Given the description of an element on the screen output the (x, y) to click on. 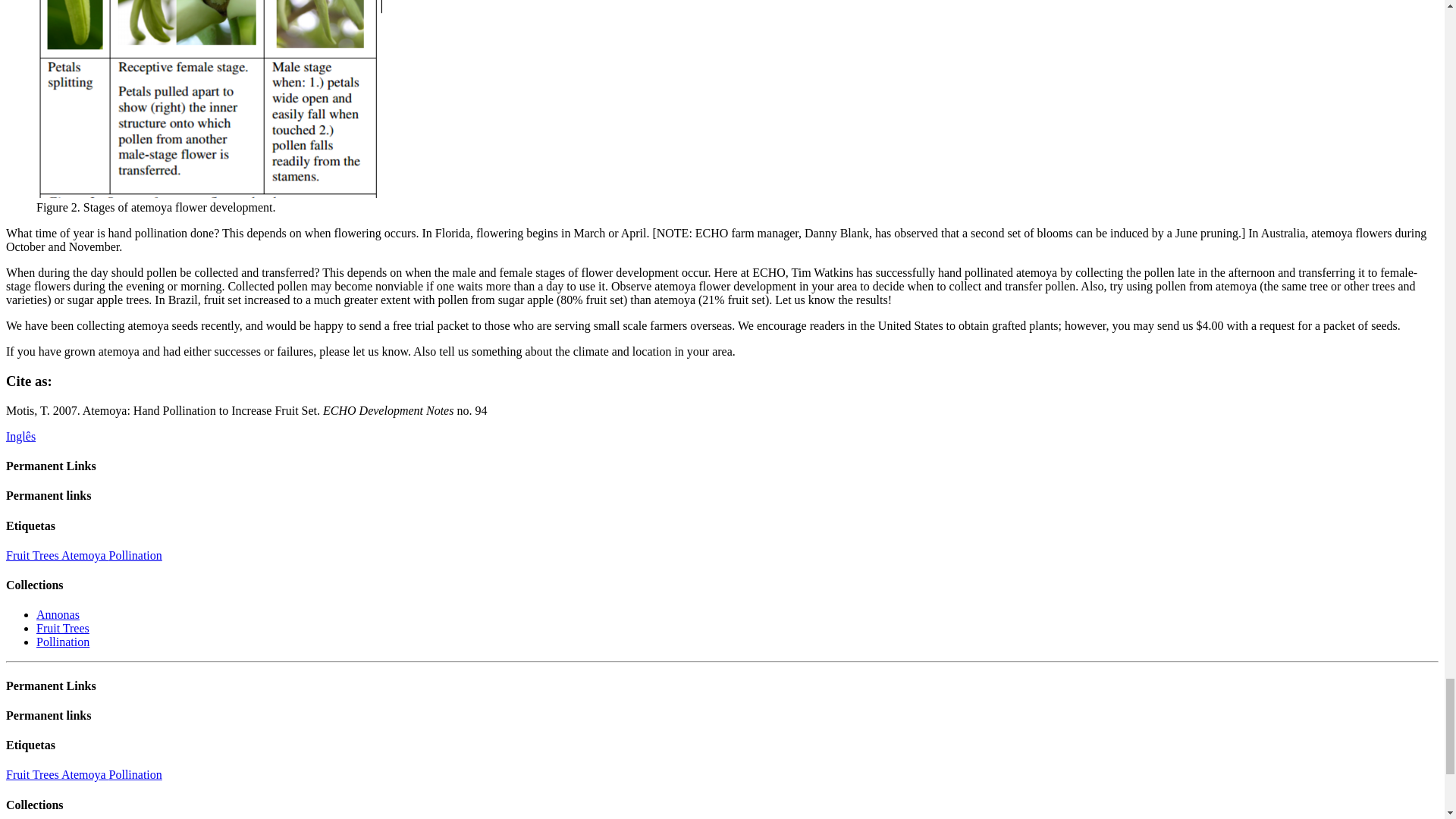
Atemoya (85, 774)
Fruit Trees (33, 774)
Pollination (135, 774)
Fruit Trees (62, 627)
Pollination (135, 554)
Annonas (58, 614)
Pollination (62, 641)
Fruit Trees (33, 554)
Atemoya (85, 554)
